Given the description of an element on the screen output the (x, y) to click on. 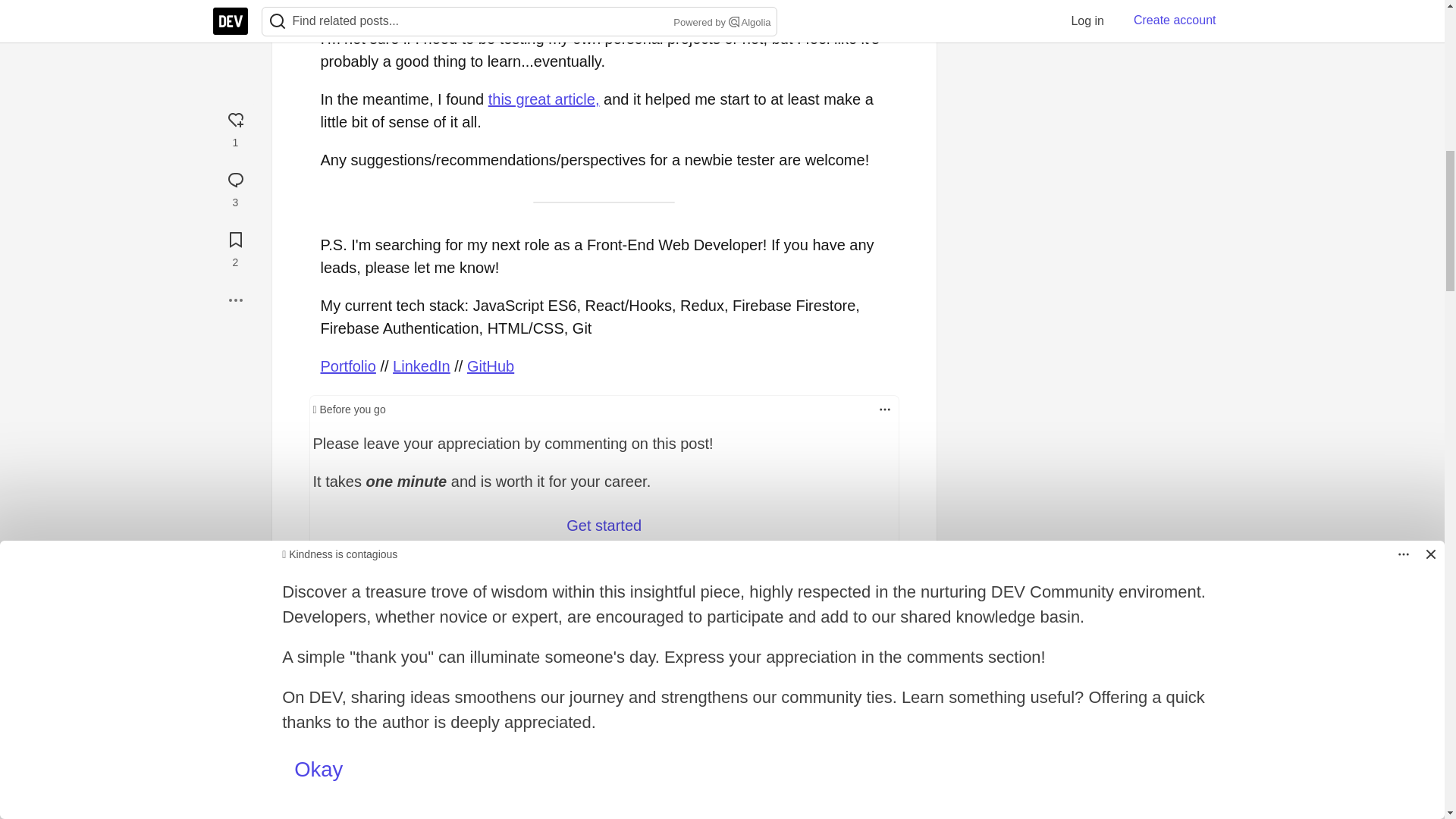
Portfolio (347, 365)
GitHub (490, 365)
LinkedIn (421, 365)
this great article, (543, 98)
Dropdown menu (884, 409)
Dropdown menu (870, 750)
Dropdown menu (884, 409)
